Given the description of an element on the screen output the (x, y) to click on. 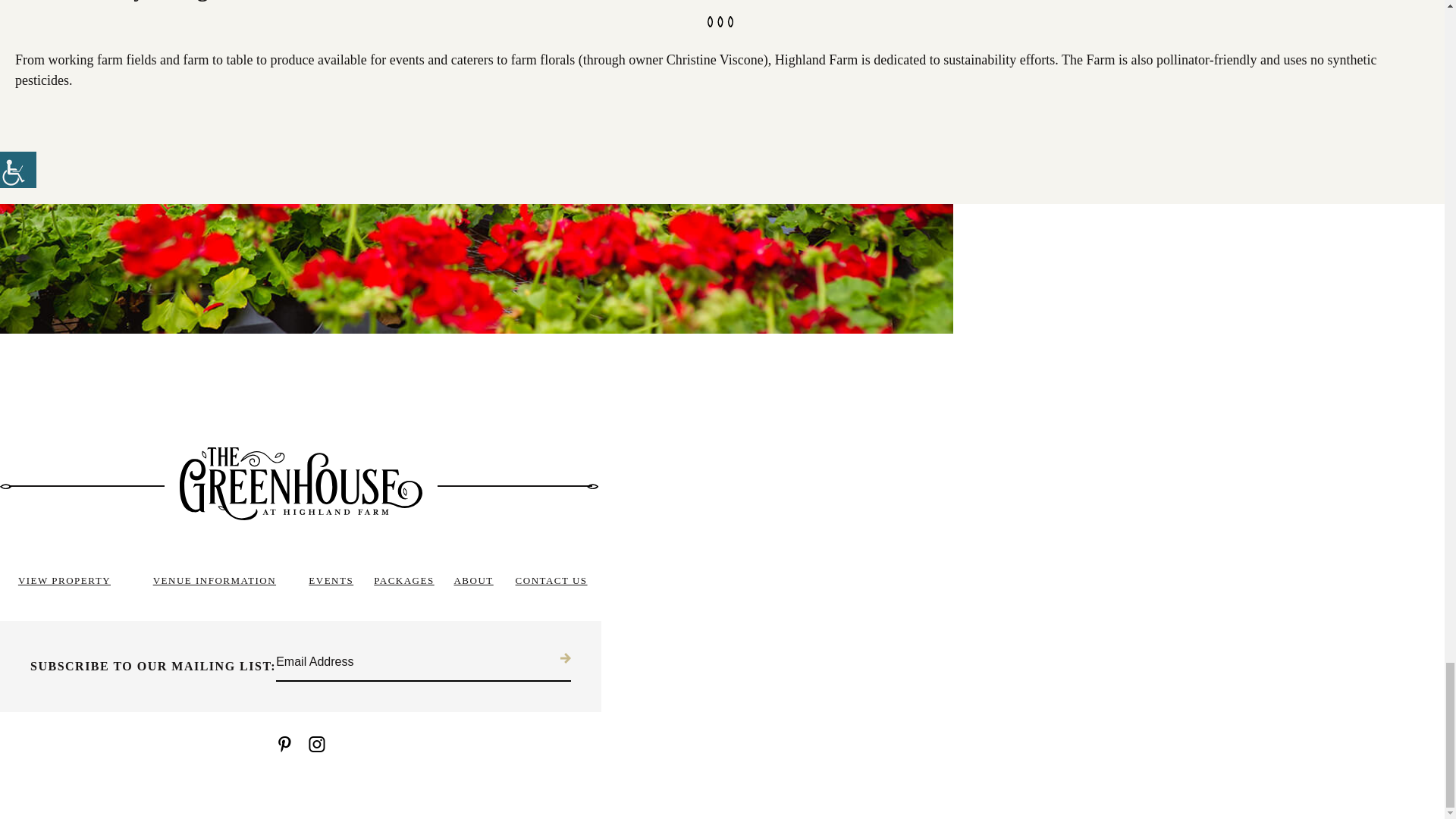
CONTACT US (551, 580)
VIEW PROPERTY (63, 580)
PACKAGES (403, 580)
Send (562, 657)
ABOUT (472, 580)
VENUE INFORMATION (214, 580)
Send (562, 657)
EVENTS (330, 580)
